Given the description of an element on the screen output the (x, y) to click on. 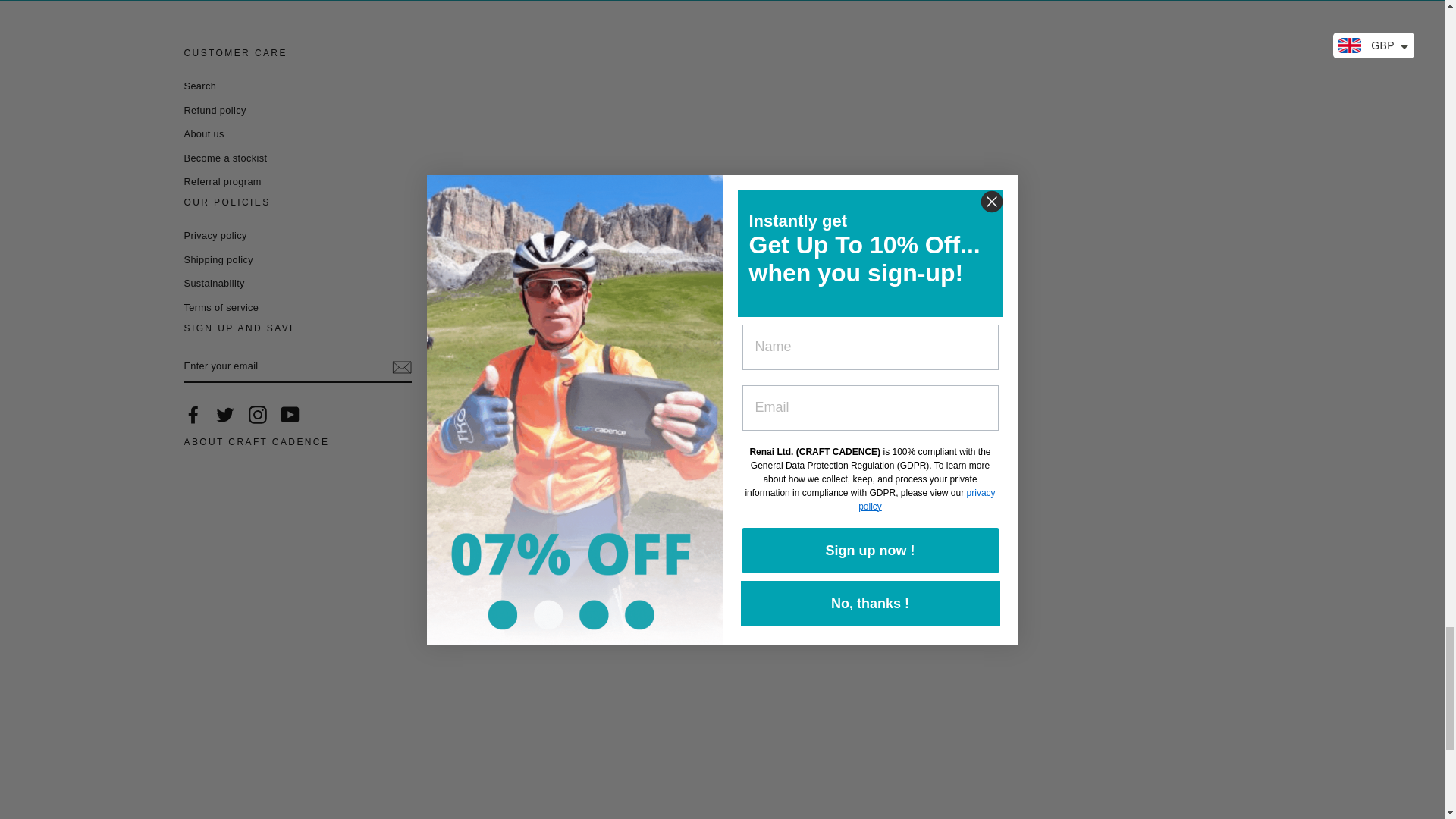
Craft Cadence on Facebook (192, 414)
Craft Cadence on Instagram (257, 414)
Craft Cadence on Twitter (224, 414)
Craft Cadence on YouTube (290, 414)
